Given the description of an element on the screen output the (x, y) to click on. 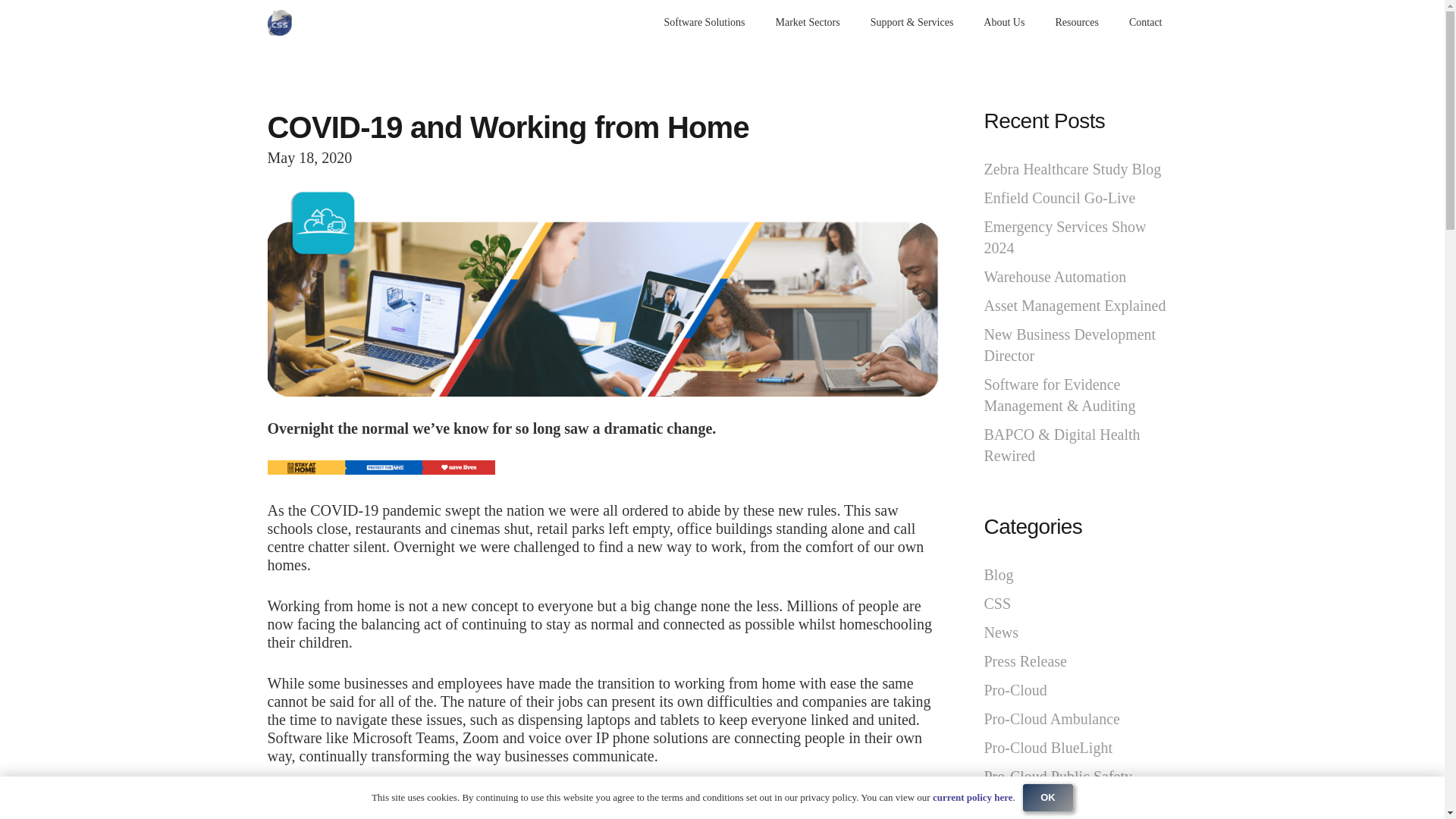
Resources (1076, 22)
Contact (1145, 22)
Software Solutions (704, 22)
Market Sectors (808, 22)
About Us (1003, 22)
